Given the description of an element on the screen output the (x, y) to click on. 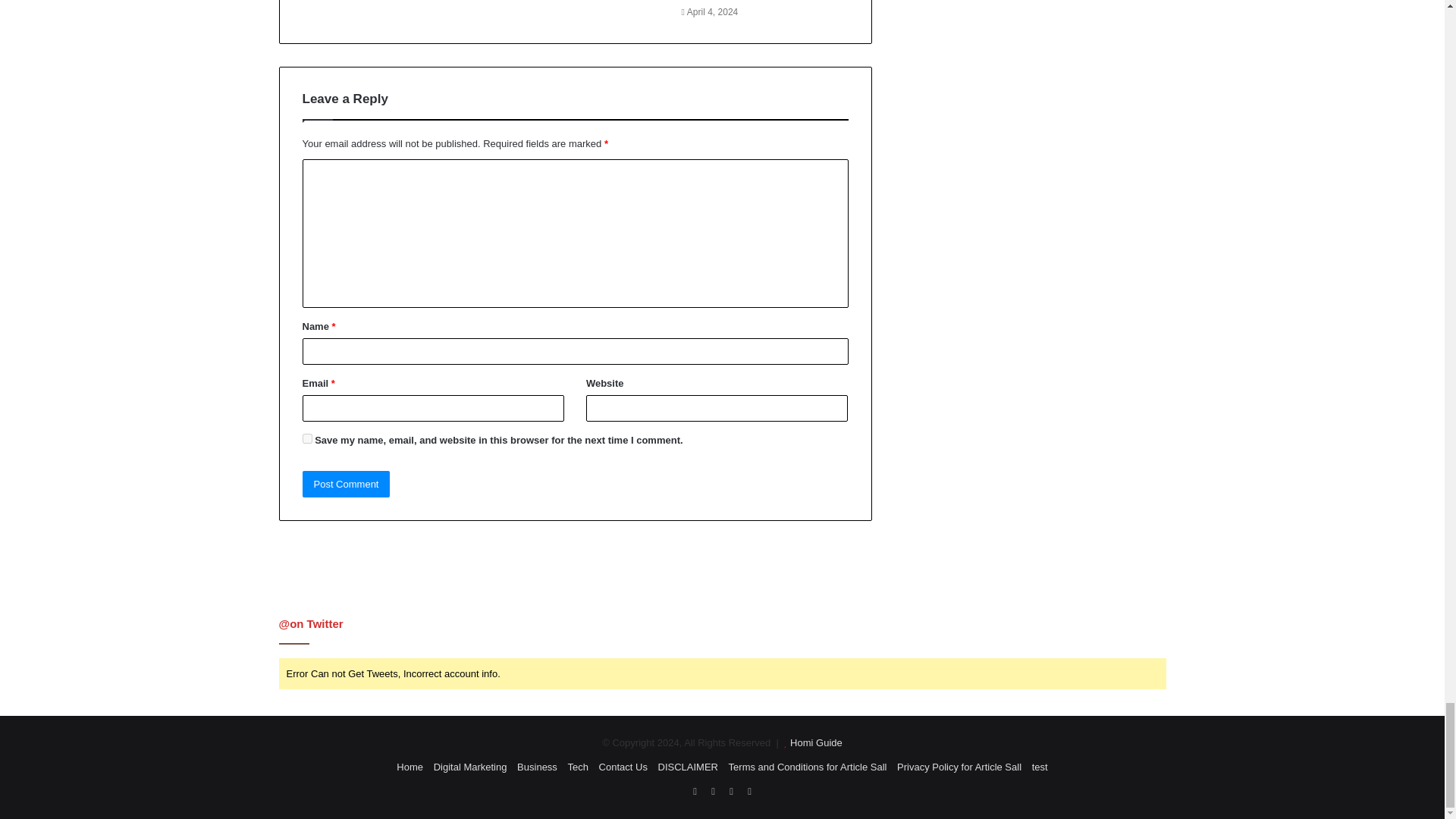
yes (306, 438)
Post Comment (345, 483)
